Given the description of an element on the screen output the (x, y) to click on. 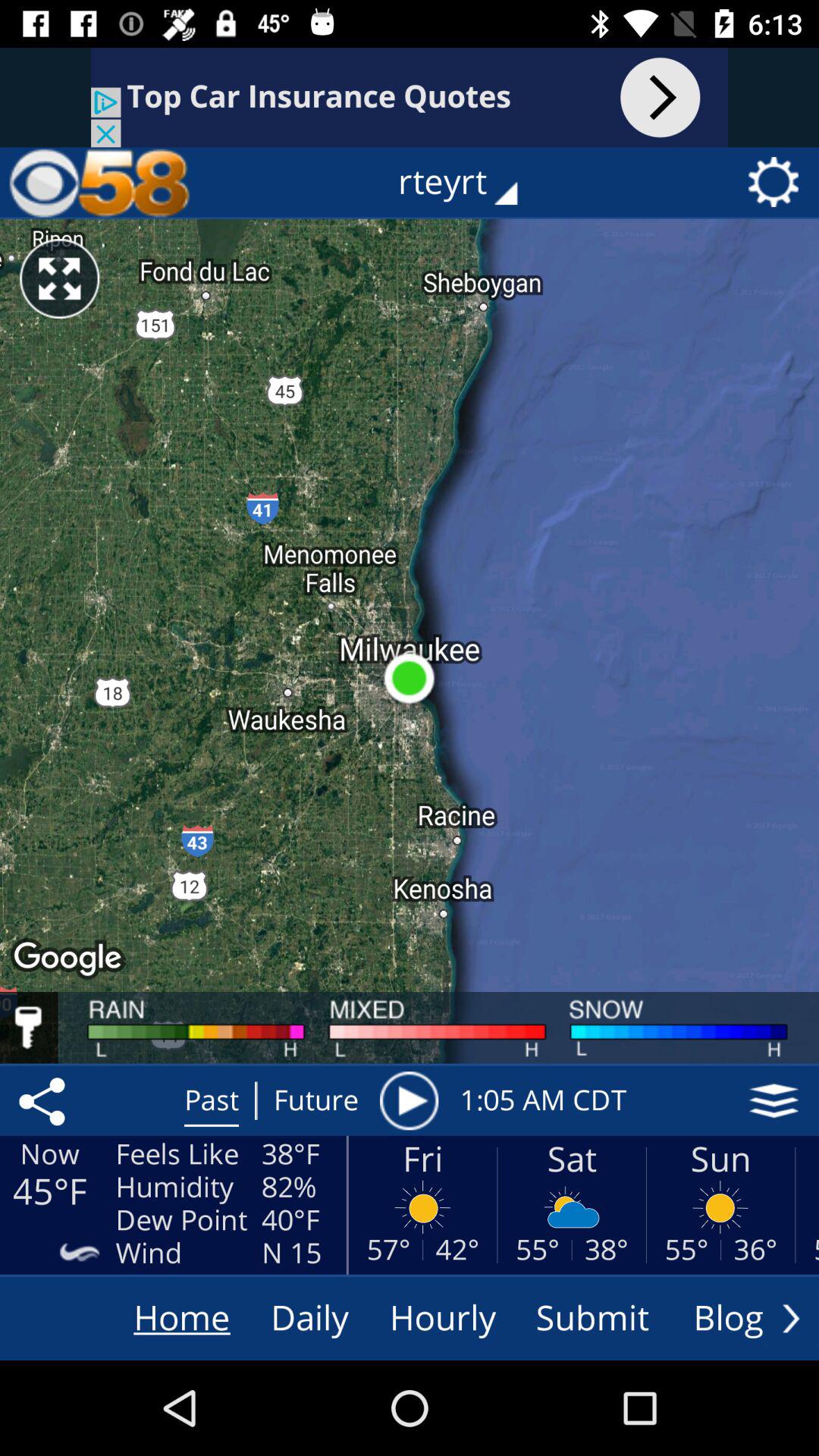
share page (44, 1100)
